Given the description of an element on the screen output the (x, y) to click on. 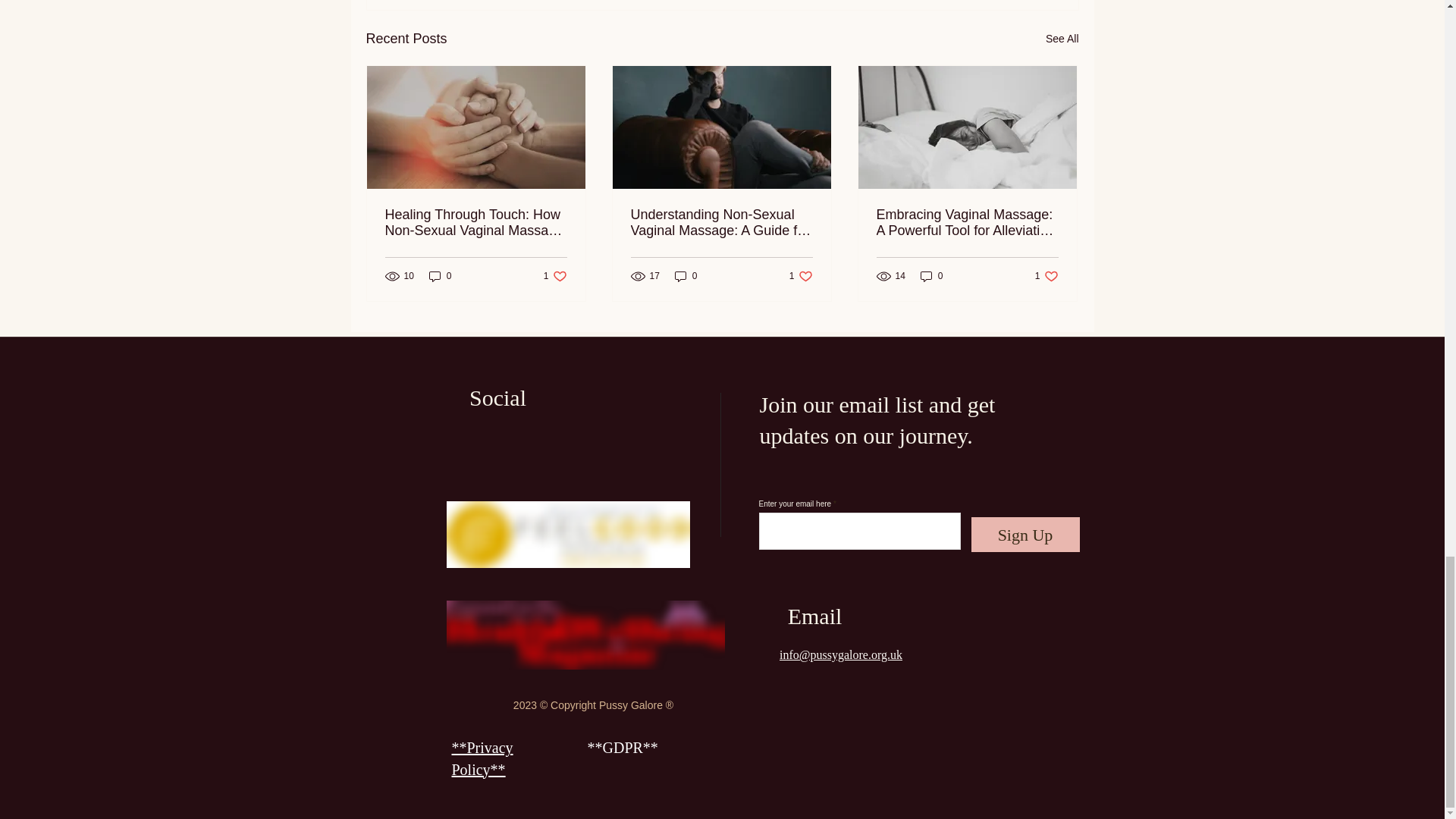
See All (1061, 38)
0 (440, 276)
0 (685, 276)
Understanding Non-Sexual Vaginal Massage: A Guide for Men (721, 223)
FGN-CM-Badge-Trans.png (566, 534)
